Given the description of an element on the screen output the (x, y) to click on. 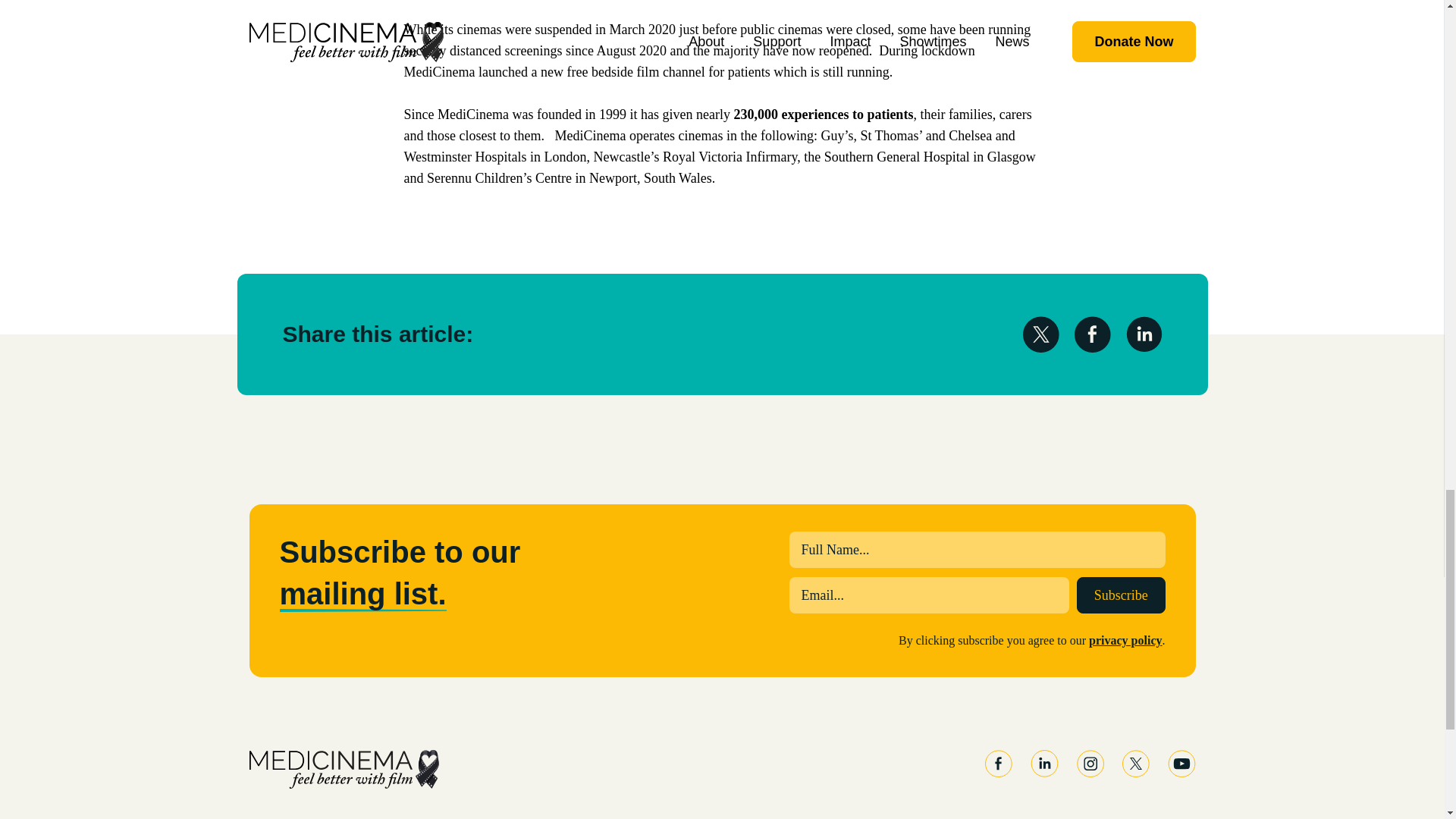
privacy policy (1125, 640)
Twitter (1136, 763)
Instagram (1090, 763)
Subscribe (1121, 595)
Subscribe (1121, 595)
Facebook (997, 763)
YouTube (1181, 763)
Linkedin (1043, 763)
